Given the description of an element on the screen output the (x, y) to click on. 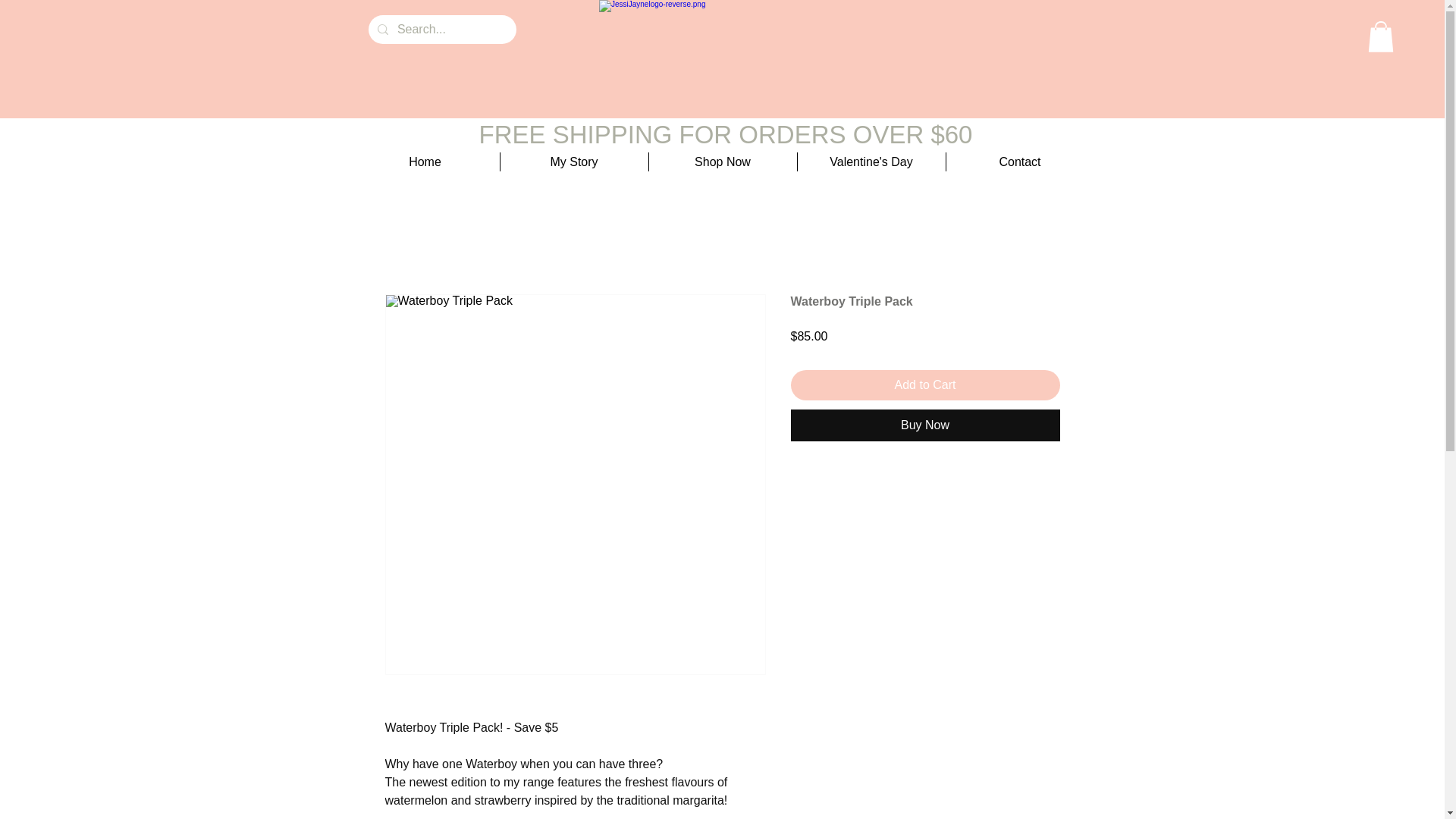
Home (424, 161)
Shop Now (722, 161)
Add to Cart (924, 385)
Contact (1020, 161)
Valentine's Day (870, 161)
My Story (573, 161)
Buy Now (924, 425)
